Given the description of an element on the screen output the (x, y) to click on. 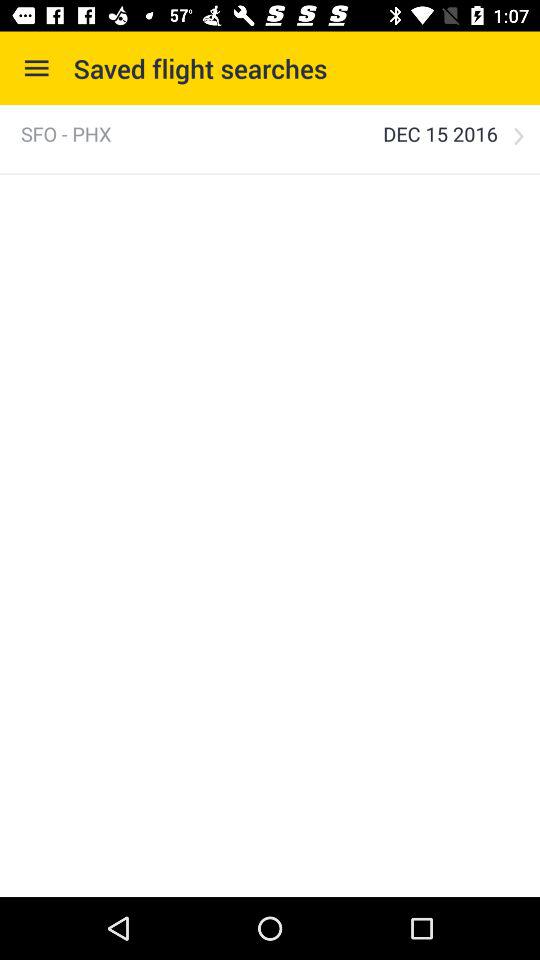
flip until the sfo - phx (66, 133)
